Given the description of an element on the screen output the (x, y) to click on. 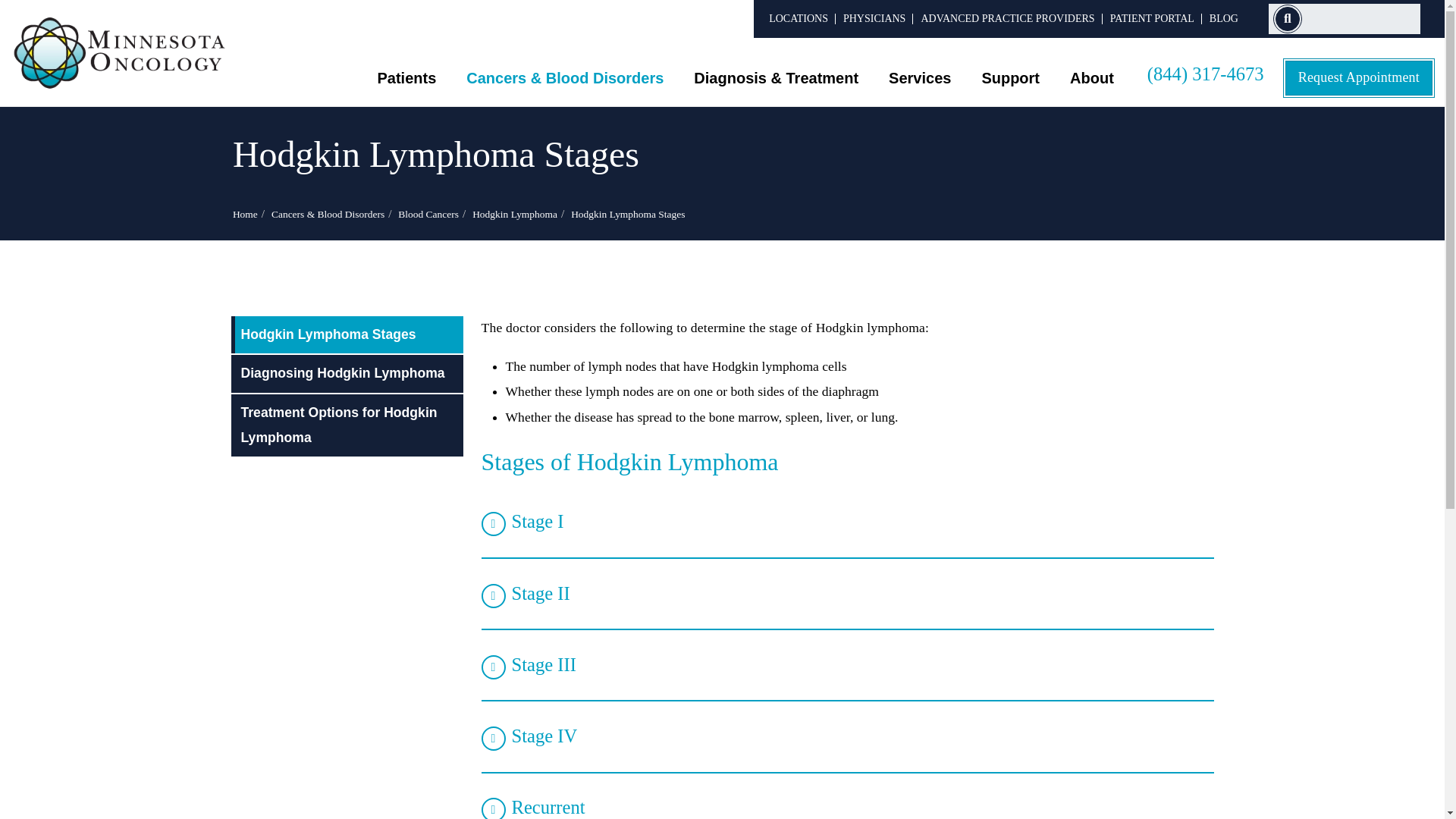
Support (1010, 77)
Search (1287, 19)
BLOG (1224, 18)
ADVANCED PRACTICE PROVIDERS (1007, 18)
PATIENT PORTAL (1151, 18)
Minnesota Oncology Logo (119, 52)
PHYSICIANS (874, 18)
Services (919, 77)
Patients (406, 77)
LOCATIONS (798, 18)
About (1091, 77)
